Given the description of an element on the screen output the (x, y) to click on. 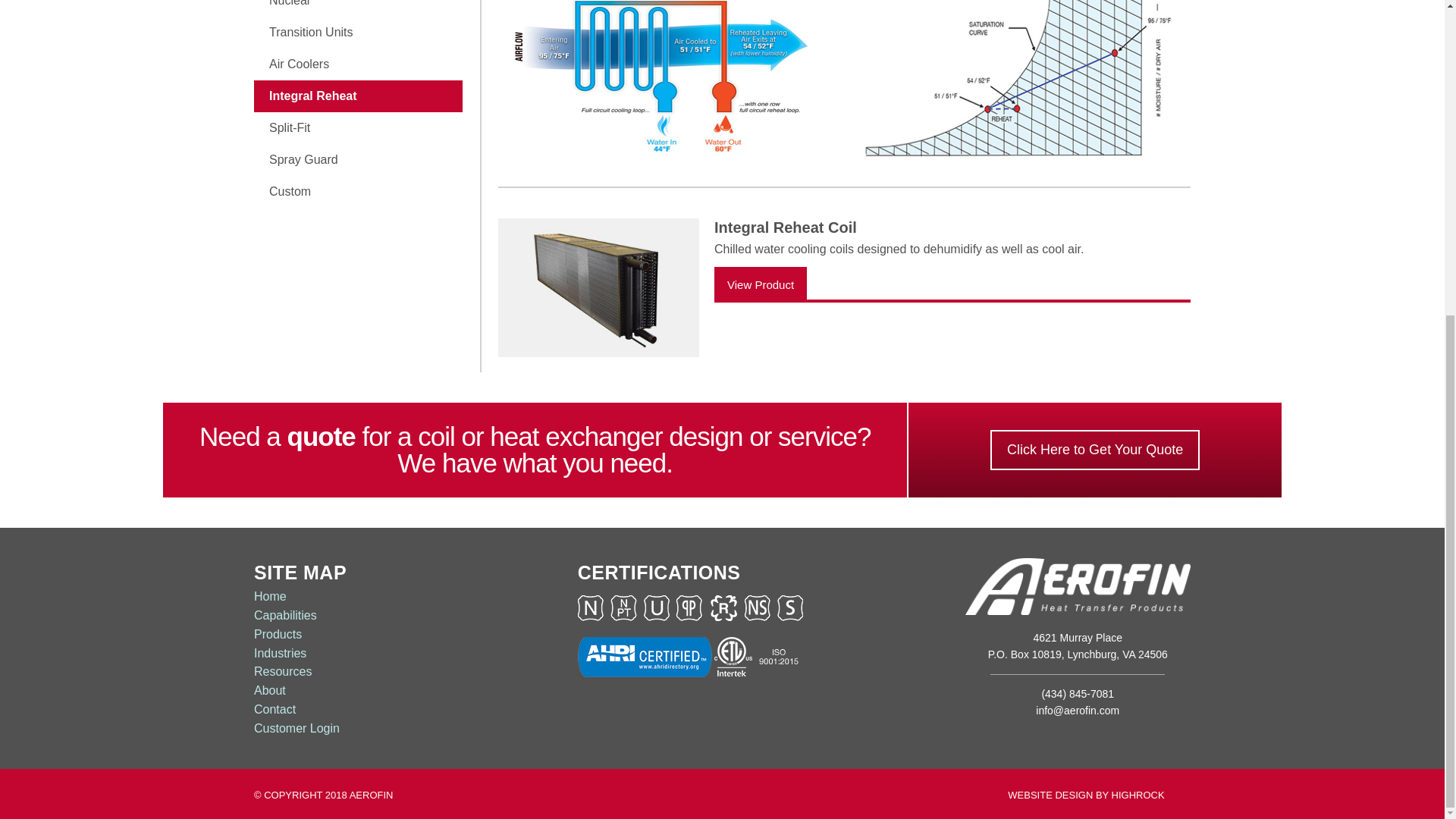
Integral Reheat Process (670, 83)
Integral Reheat Process (1011, 83)
